Given the description of an element on the screen output the (x, y) to click on. 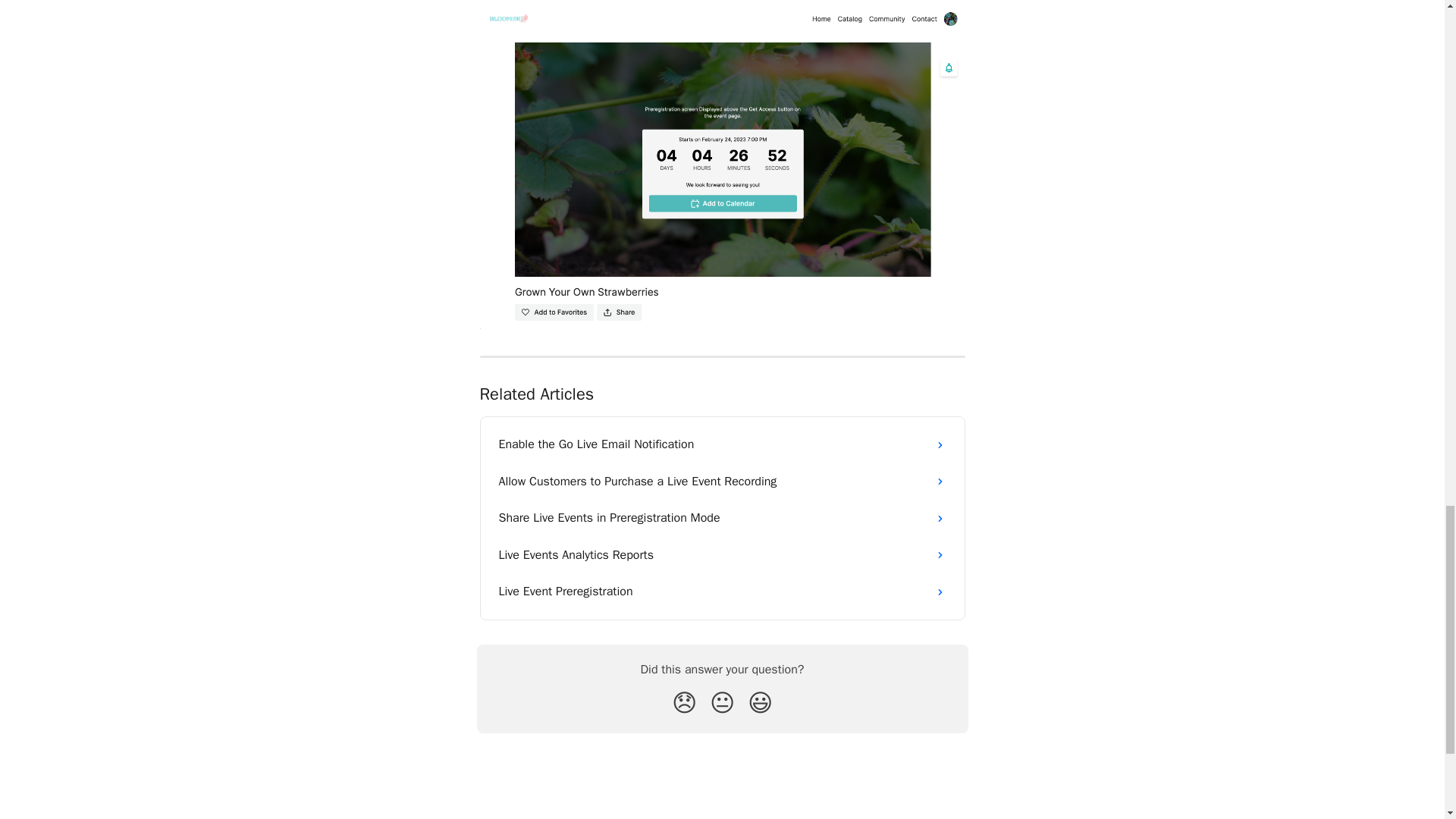
Enable the Go Live Email Notification (722, 443)
Allow Customers to Purchase a Live Event Recording (722, 481)
Neutral (722, 703)
Share Live Events in Preregistration Mode (722, 517)
Live Events Analytics Reports (722, 555)
Smiley (760, 703)
Disappointed (684, 703)
Live Event Preregistration (722, 591)
